Given the description of an element on the screen output the (x, y) to click on. 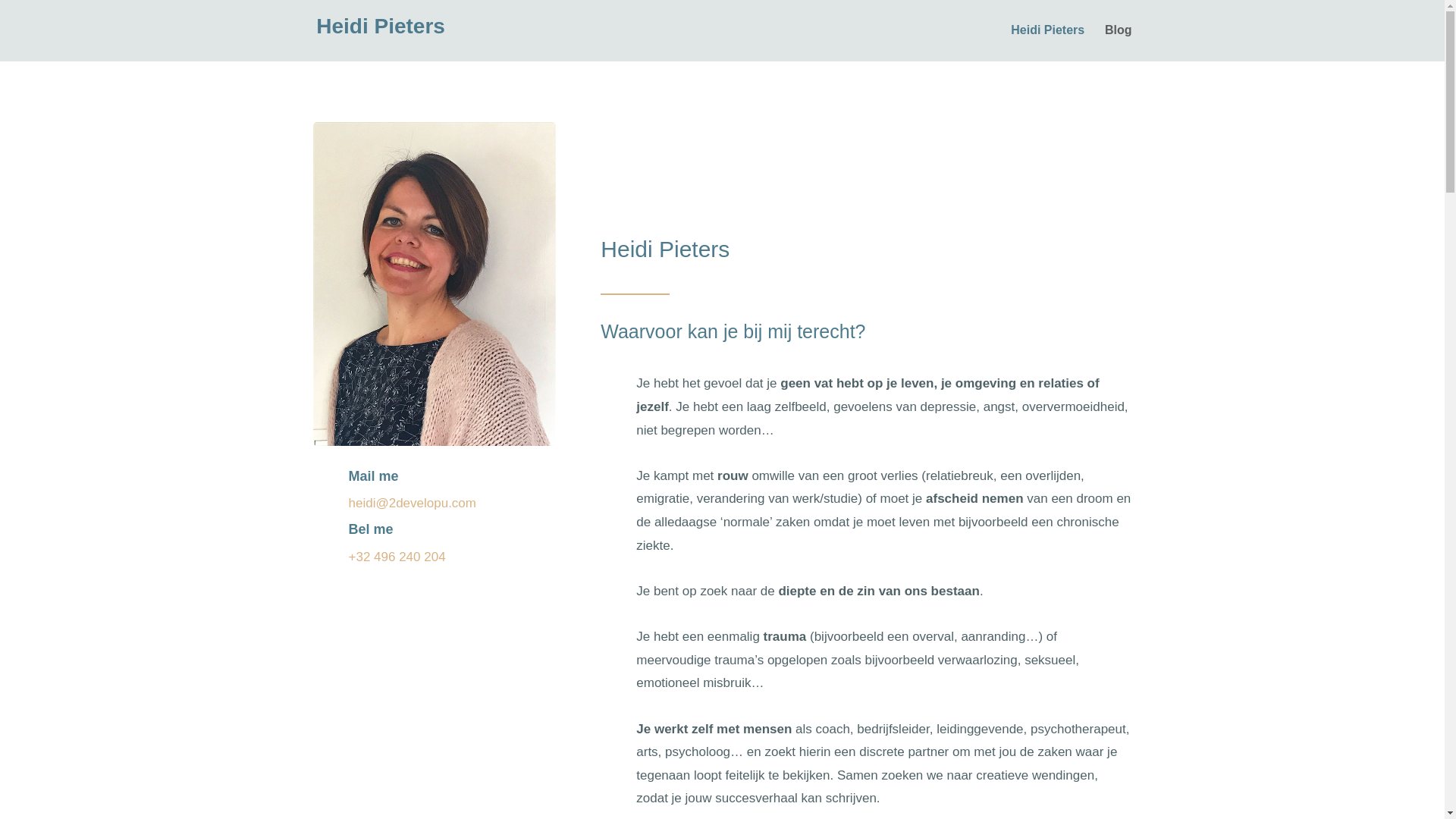
+32 496 240 204  Element type: text (398, 556)
Heidi Pieters Element type: hover (433, 283)
Heidi Pieters Element type: text (380, 28)
heidi@2developu.com Element type: text (412, 502)
Blog Element type: text (1118, 42)
Heidi Pieters Element type: text (1047, 42)
